Given the description of an element on the screen output the (x, y) to click on. 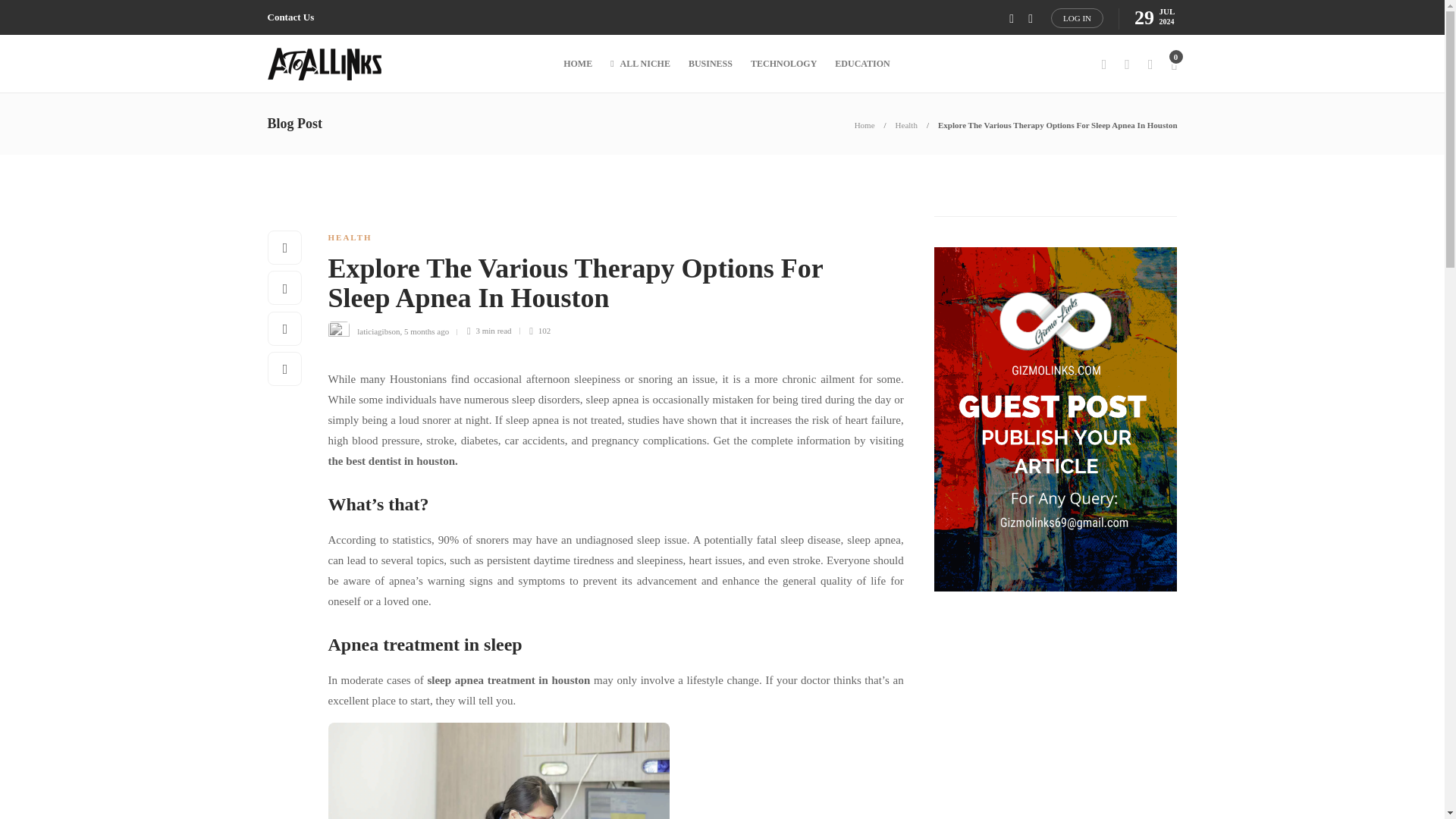
LOG IN (1077, 17)
HEALTH (349, 236)
Contact Us (290, 17)
laticiagibson (377, 329)
Health (906, 124)
Home (864, 124)
Home (864, 124)
ALL NICHE (639, 63)
EDUCATION (861, 63)
5 months ago (426, 329)
TECHNOLOGY (783, 63)
